Given the description of an element on the screen output the (x, y) to click on. 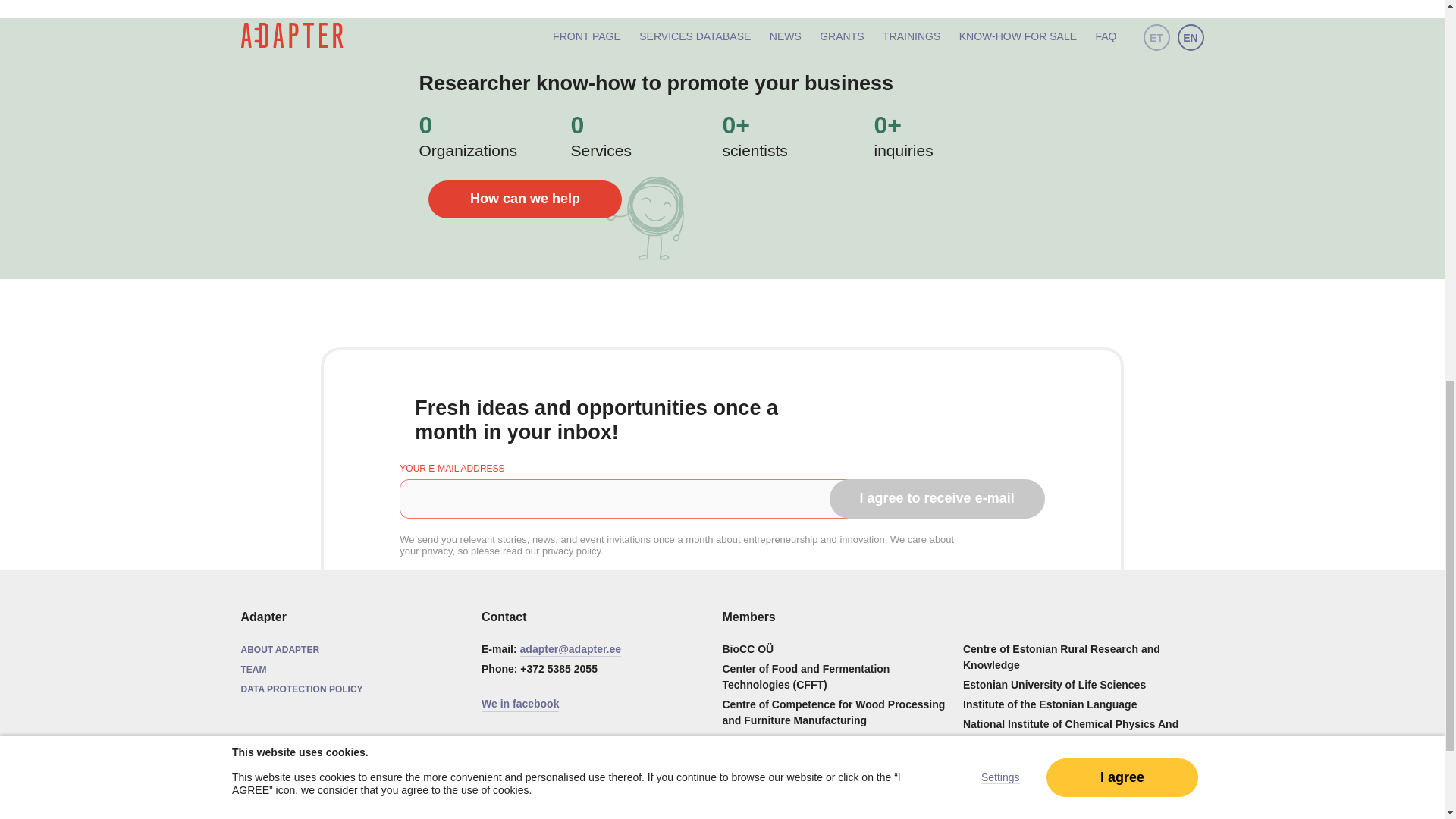
DATA PROTECTION POLICY (301, 688)
How can we help (524, 199)
TEAM (253, 669)
I agree to receive e-mail (937, 498)
ABOUT ADAPTER (280, 649)
We in facebook (520, 703)
